Given the description of an element on the screen output the (x, y) to click on. 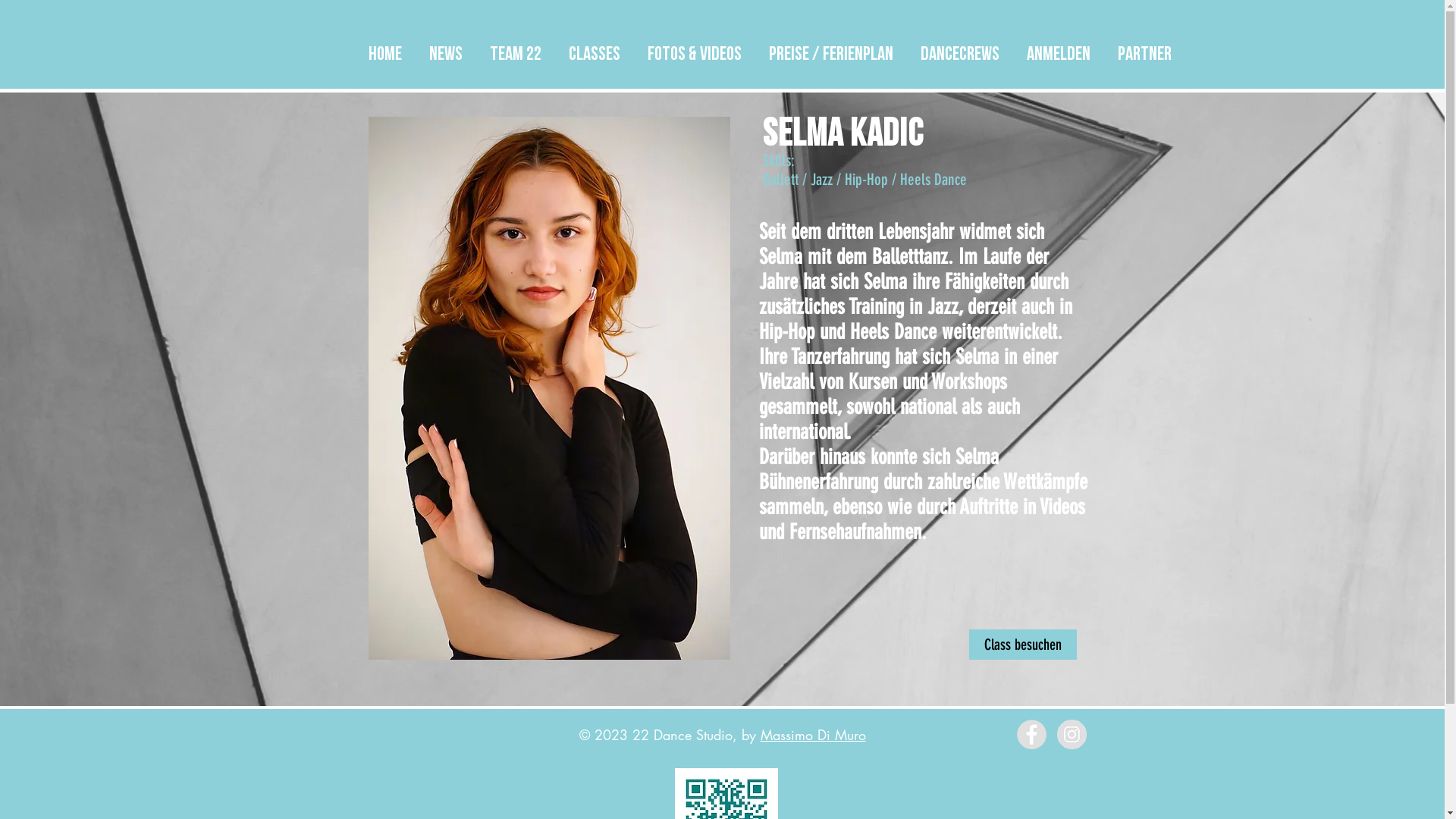
Home Element type: text (384, 47)
Anmelden Element type: text (1058, 47)
Fotos & Videos Element type: text (694, 47)
News Element type: text (445, 47)
Classes Element type: text (594, 47)
Massimo Di Muro Element type: text (812, 734)
Preise / Ferienplan Element type: text (830, 47)
Partner Element type: text (1144, 47)
Class besuchen Element type: text (1022, 644)
